Given the description of an element on the screen output the (x, y) to click on. 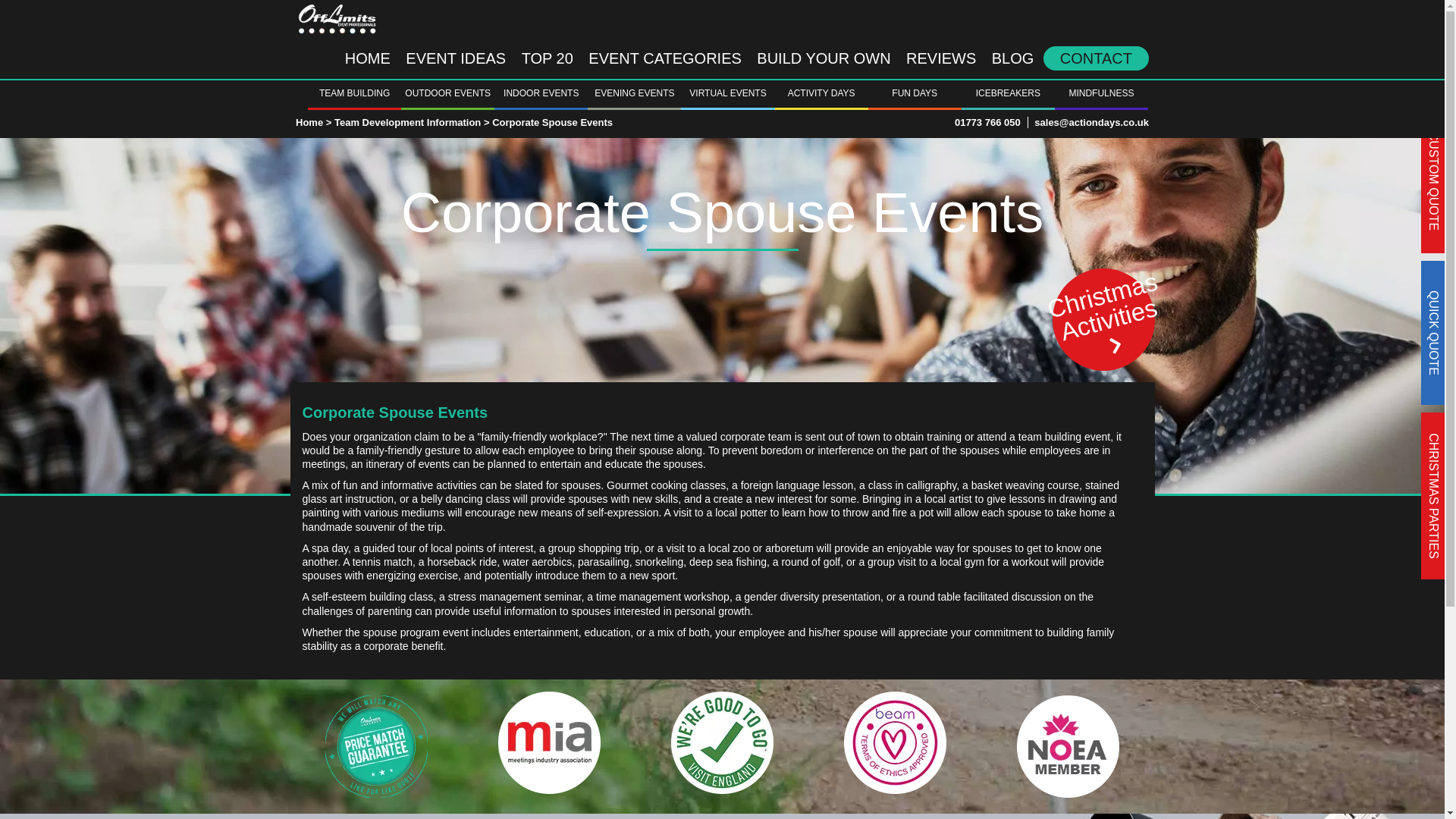
VIRTUAL EVENTS (727, 93)
EVENT CATEGORIES (665, 57)
TEAM BUILDING (354, 93)
EVENT IDEAS (455, 57)
BLOG (1013, 57)
01773 766 050 (987, 122)
HOME (367, 57)
REVIEWS (940, 57)
OUTDOOR EVENTS (448, 93)
TOP 20 (547, 57)
